Given the description of an element on the screen output the (x, y) to click on. 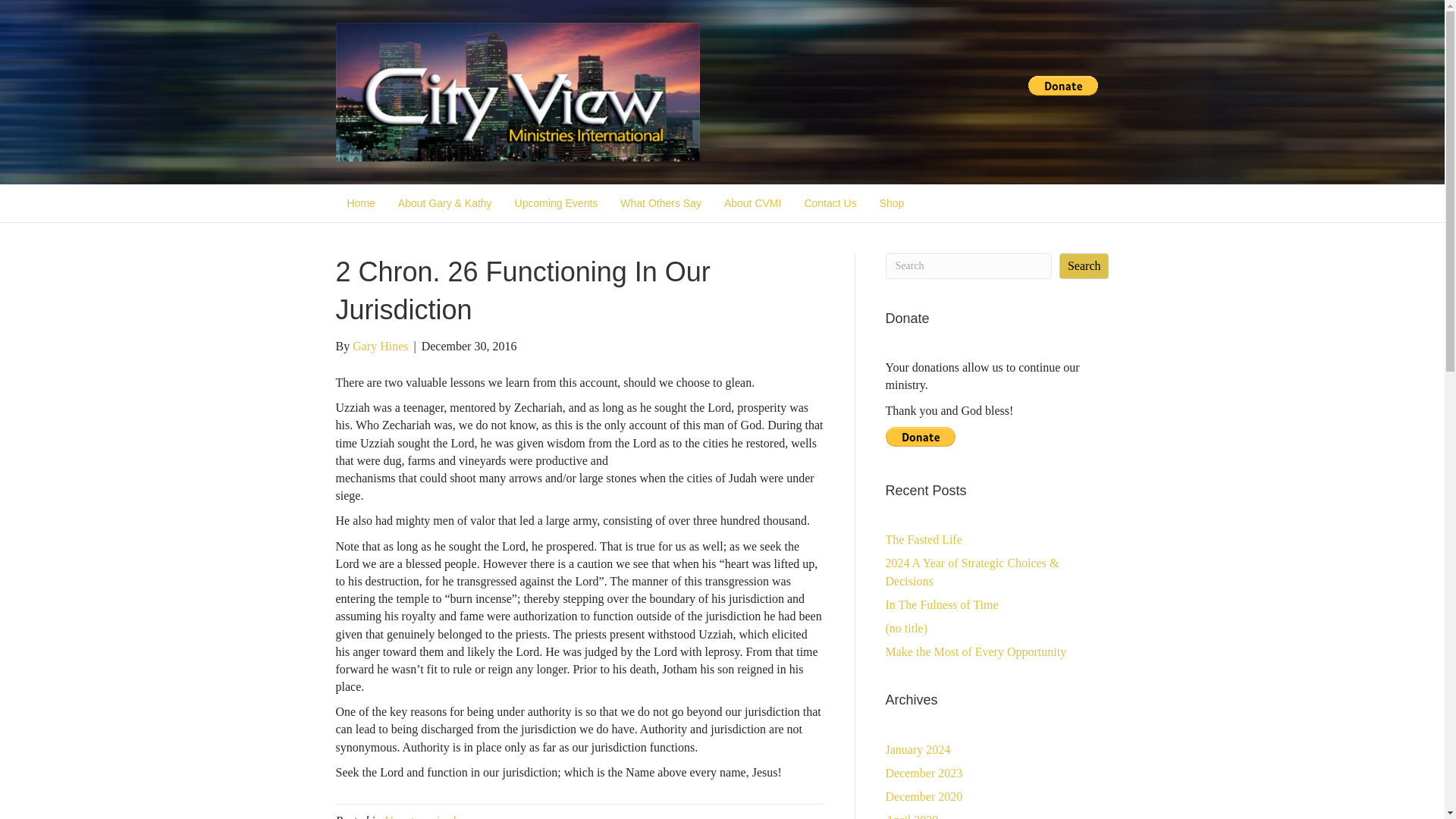
Uncategorized (419, 816)
Upcoming Events (556, 203)
What Others Say (660, 203)
In The Fulness of Time (941, 604)
Make the Most of Every Opportunity (976, 651)
Home (359, 203)
Gary Hines (379, 345)
January 2024 (917, 748)
April 2020 (912, 816)
Contact Us (829, 203)
